Given the description of an element on the screen output the (x, y) to click on. 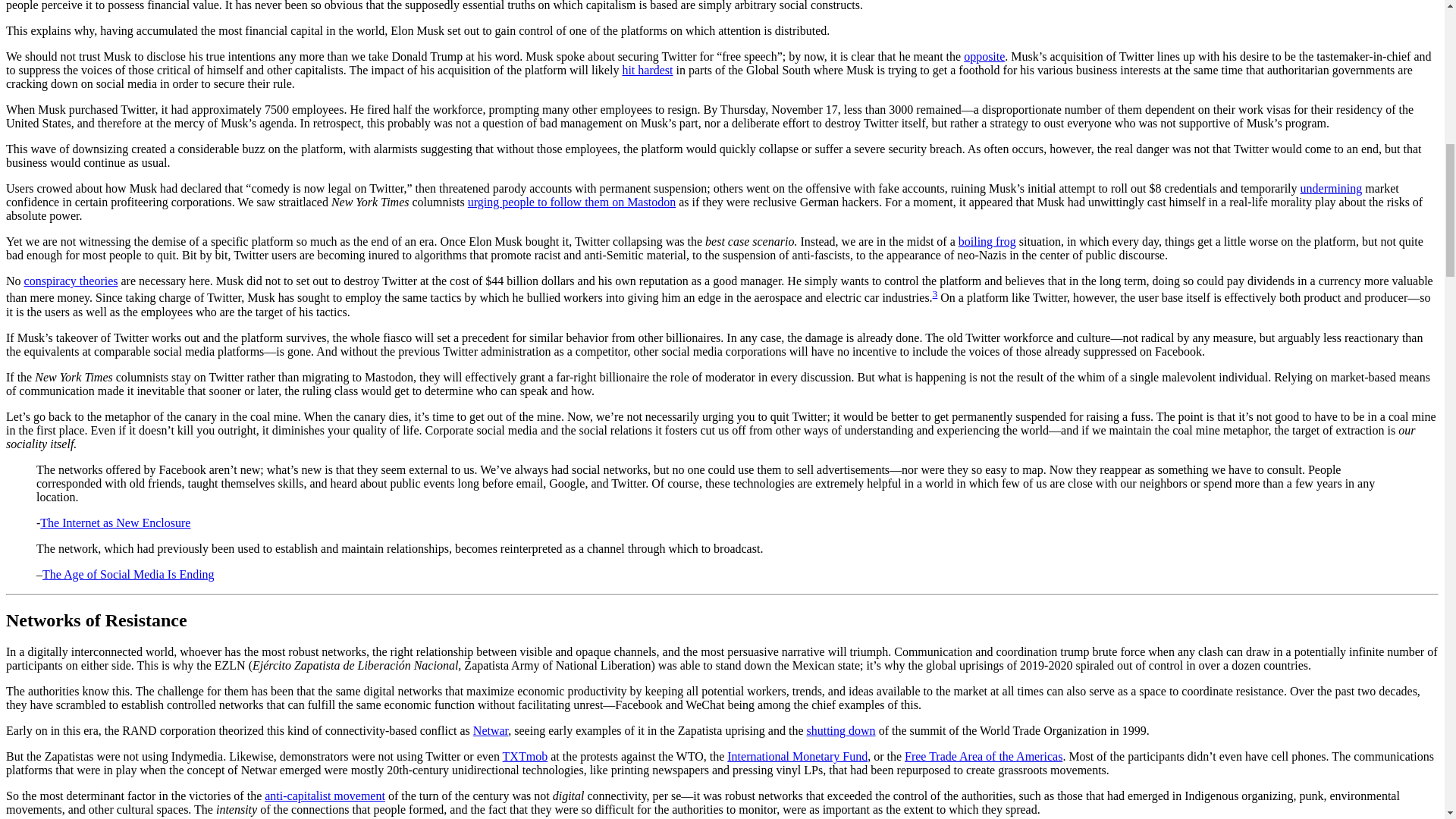
anti-capitalist movement (324, 795)
undermining (1331, 187)
TXTmob (525, 756)
boiling frog (987, 241)
Netwar (490, 730)
shutting down (841, 730)
hit hardest (646, 69)
opposite (983, 56)
International Monetary Fund (796, 756)
Free Trade Area of the Americas (983, 756)
conspiracy theories (70, 280)
urging people to follow them on Mastodon (571, 201)
The Internet as New Enclosure (115, 522)
The Age of Social Media Is Ending (128, 574)
